Given the description of an element on the screen output the (x, y) to click on. 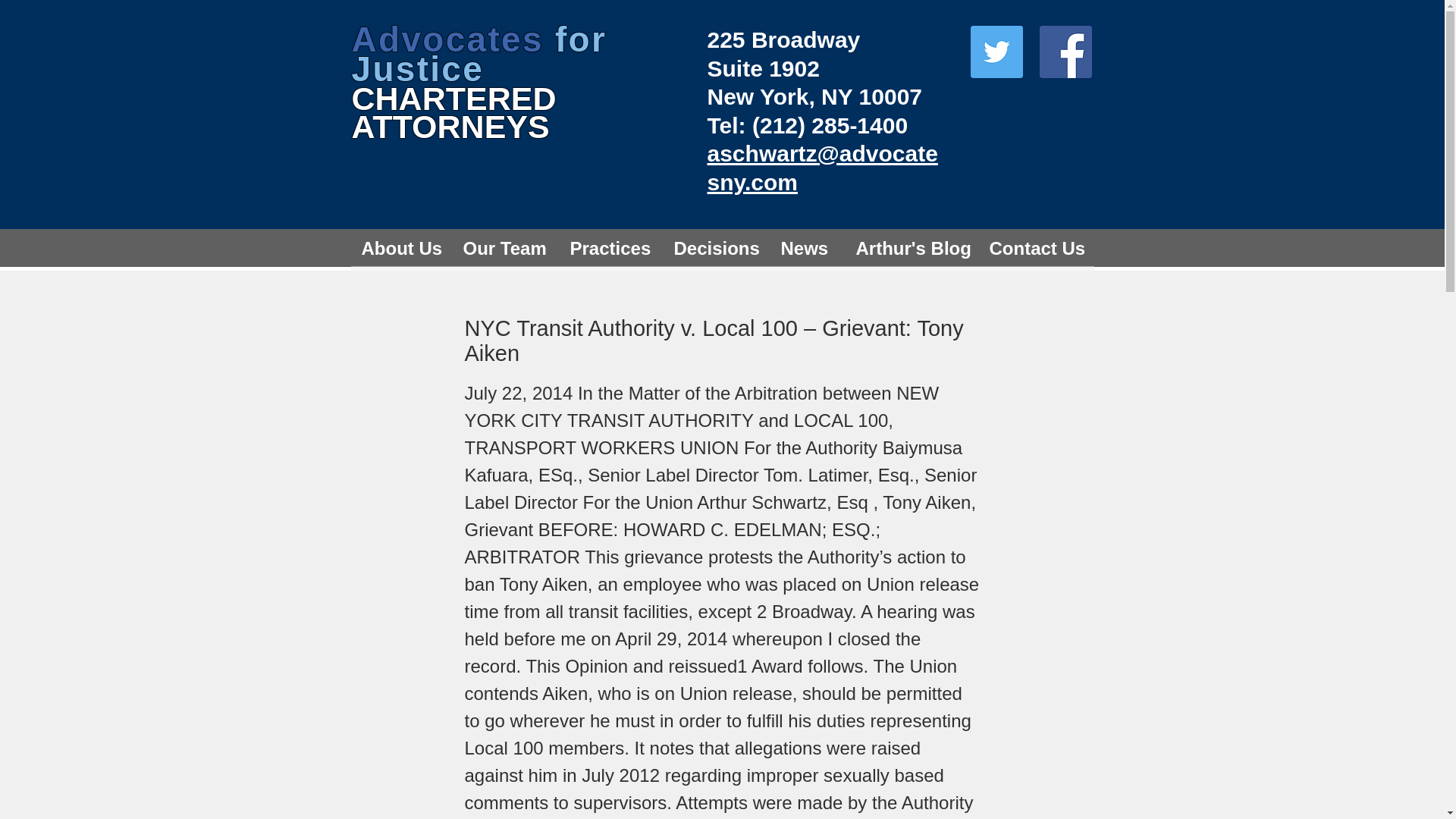
About Us (402, 247)
Arthur's Blog (912, 247)
Advocates  (453, 38)
Practices (611, 247)
News (807, 247)
Decisions (717, 247)
Contact Us (1036, 247)
Our Team (506, 247)
